Given the description of an element on the screen output the (x, y) to click on. 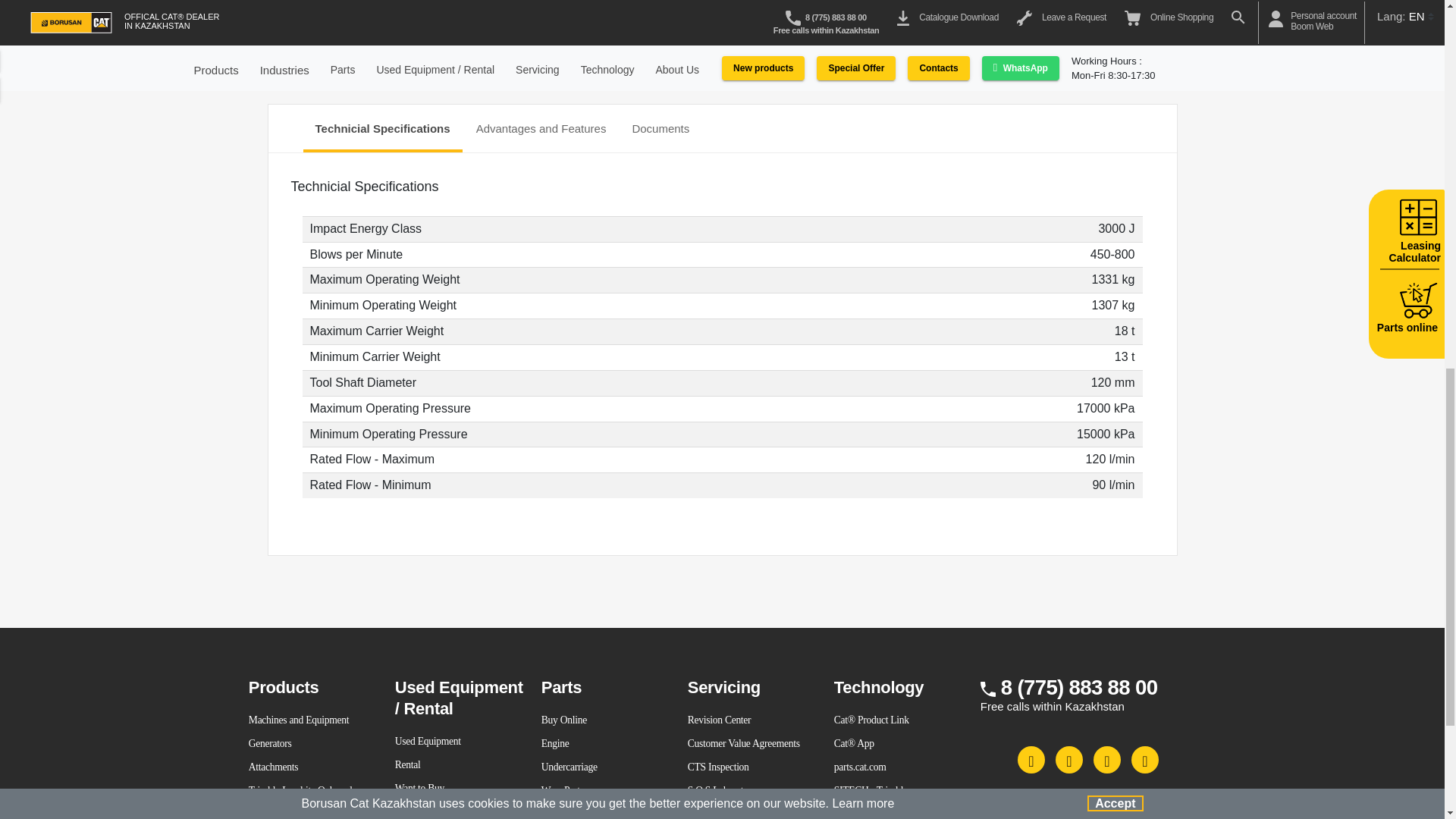
Facebook (1031, 759)
icoInstagram (1069, 759)
Youtube (1107, 759)
Telegram (1144, 759)
